Given the description of an element on the screen output the (x, y) to click on. 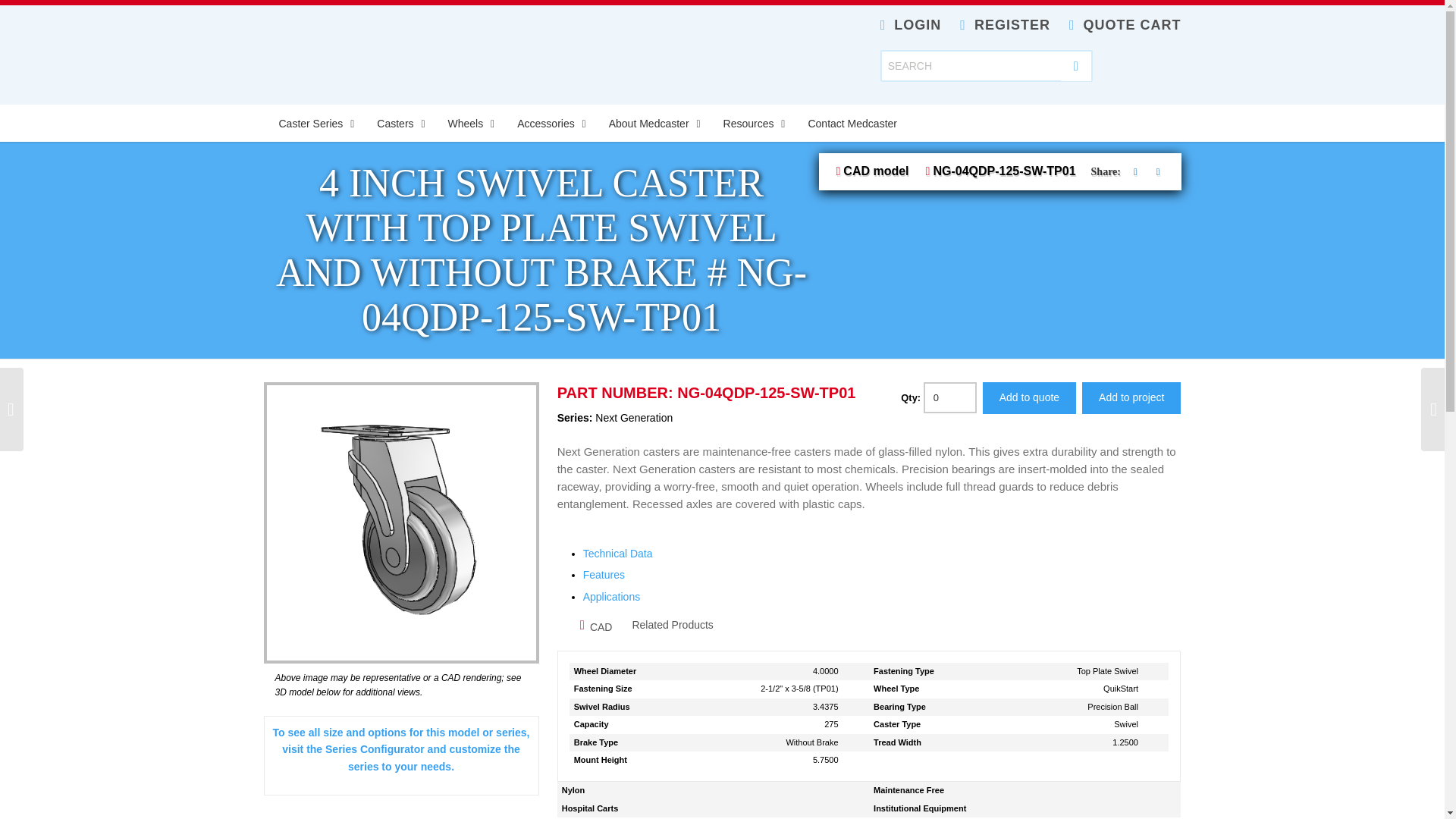
Caster Series (312, 122)
QUOTE CART (1124, 24)
0 (949, 397)
LOGIN (911, 24)
REGISTER (1004, 24)
